Given the description of an element on the screen output the (x, y) to click on. 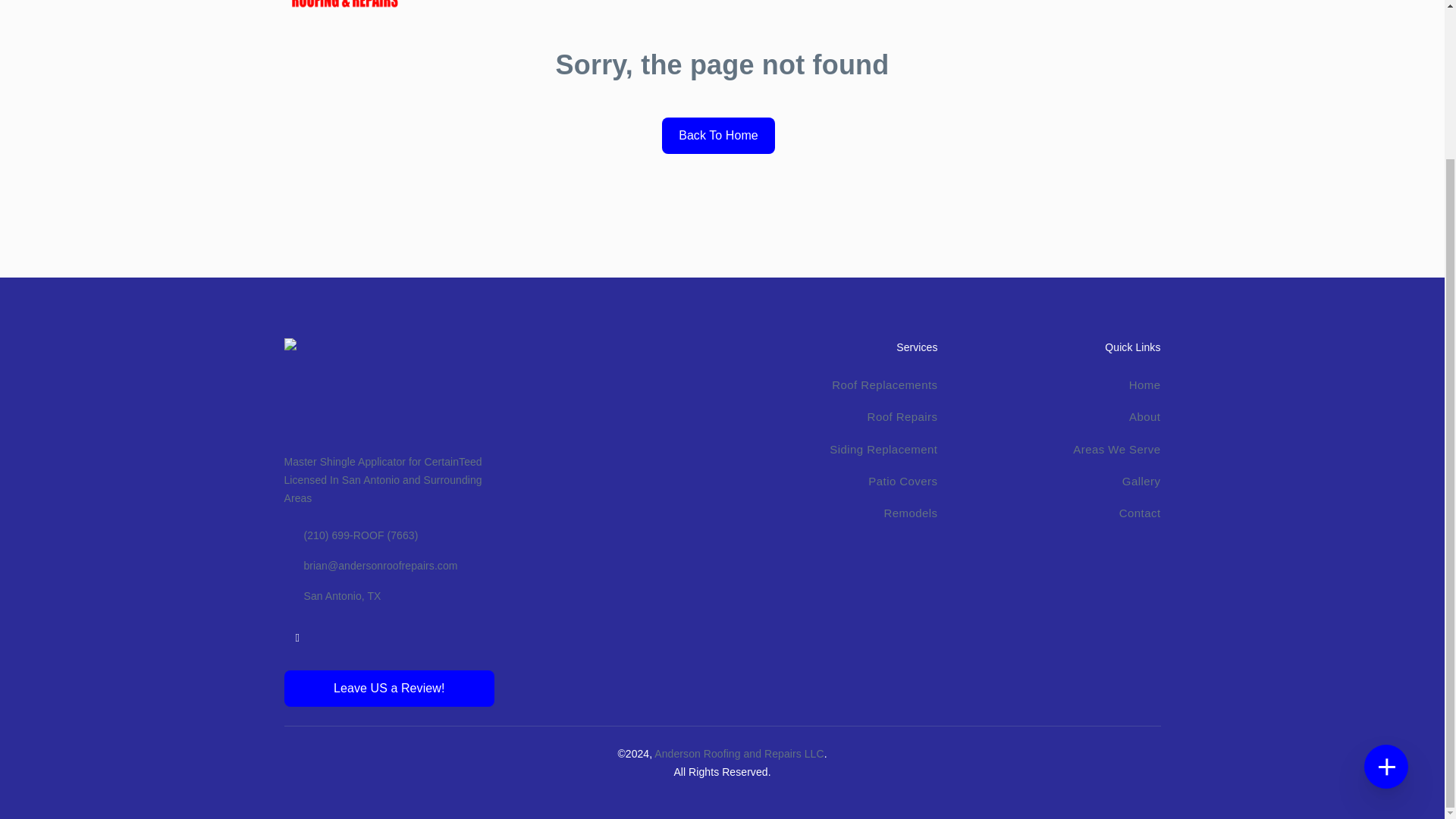
Home (1144, 384)
Remodels (910, 512)
Siding Replacement (883, 449)
Patio Covers (902, 481)
Roof Repairs (902, 416)
San Antonio, TX (388, 596)
Roof Replacements (884, 384)
Leave US a Review! (388, 688)
About (1144, 416)
Back To Home (718, 135)
